Given the description of an element on the screen output the (x, y) to click on. 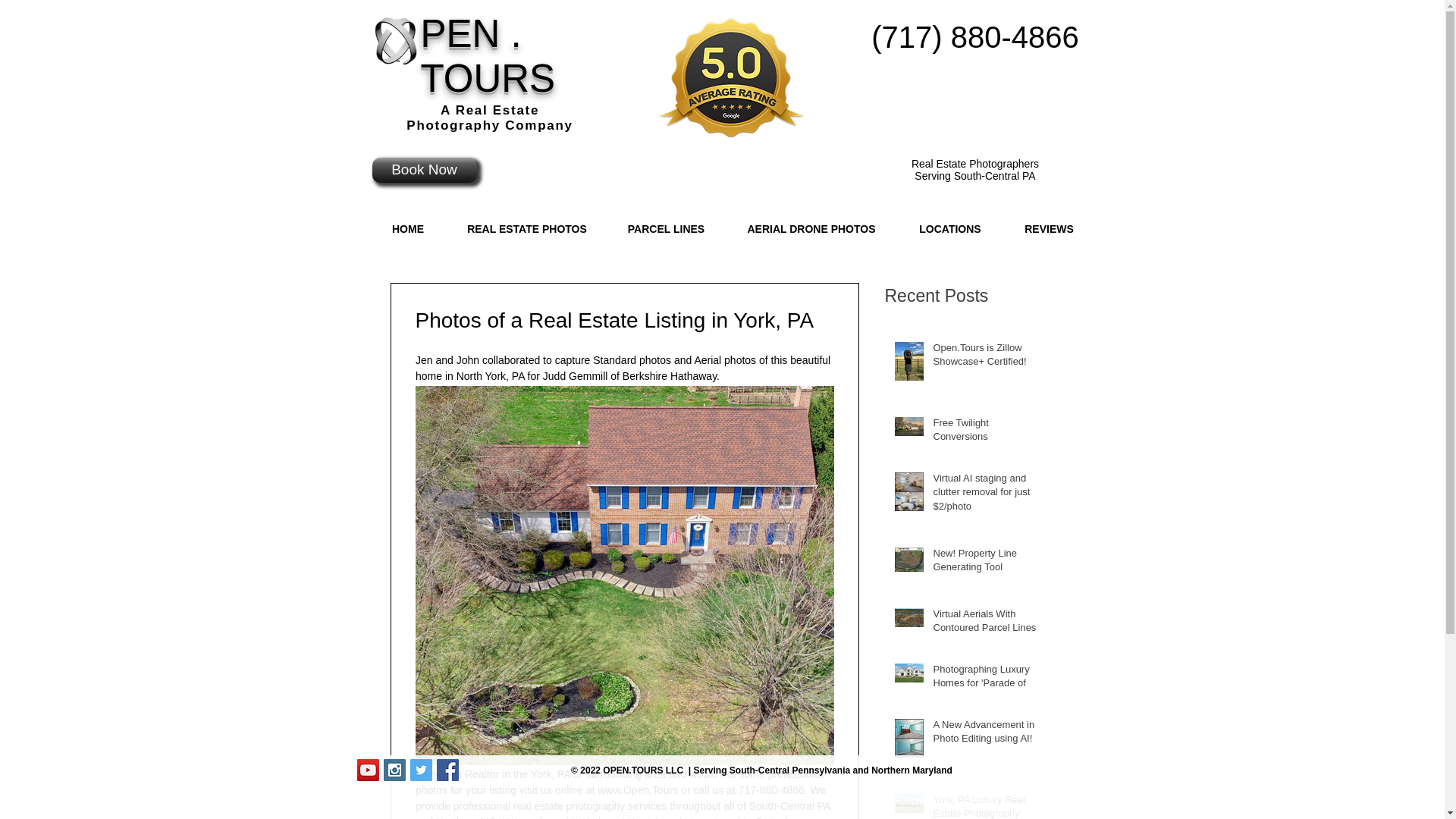
REAL ESTATE PHOTOS (526, 228)
York, PA Luxury Real Estate Photography (987, 806)
Free Twilight Conversions (987, 432)
A New Advancement in Photo Editing using AI! (987, 734)
REVIEWS (1048, 228)
New! Property Line Generating Tool (987, 563)
OpenToursAnimSM.gif (395, 40)
HOME (407, 228)
Virtual Aerials With Contoured Parcel Lines (987, 623)
PARCEL LINES (666, 228)
